Given the description of an element on the screen output the (x, y) to click on. 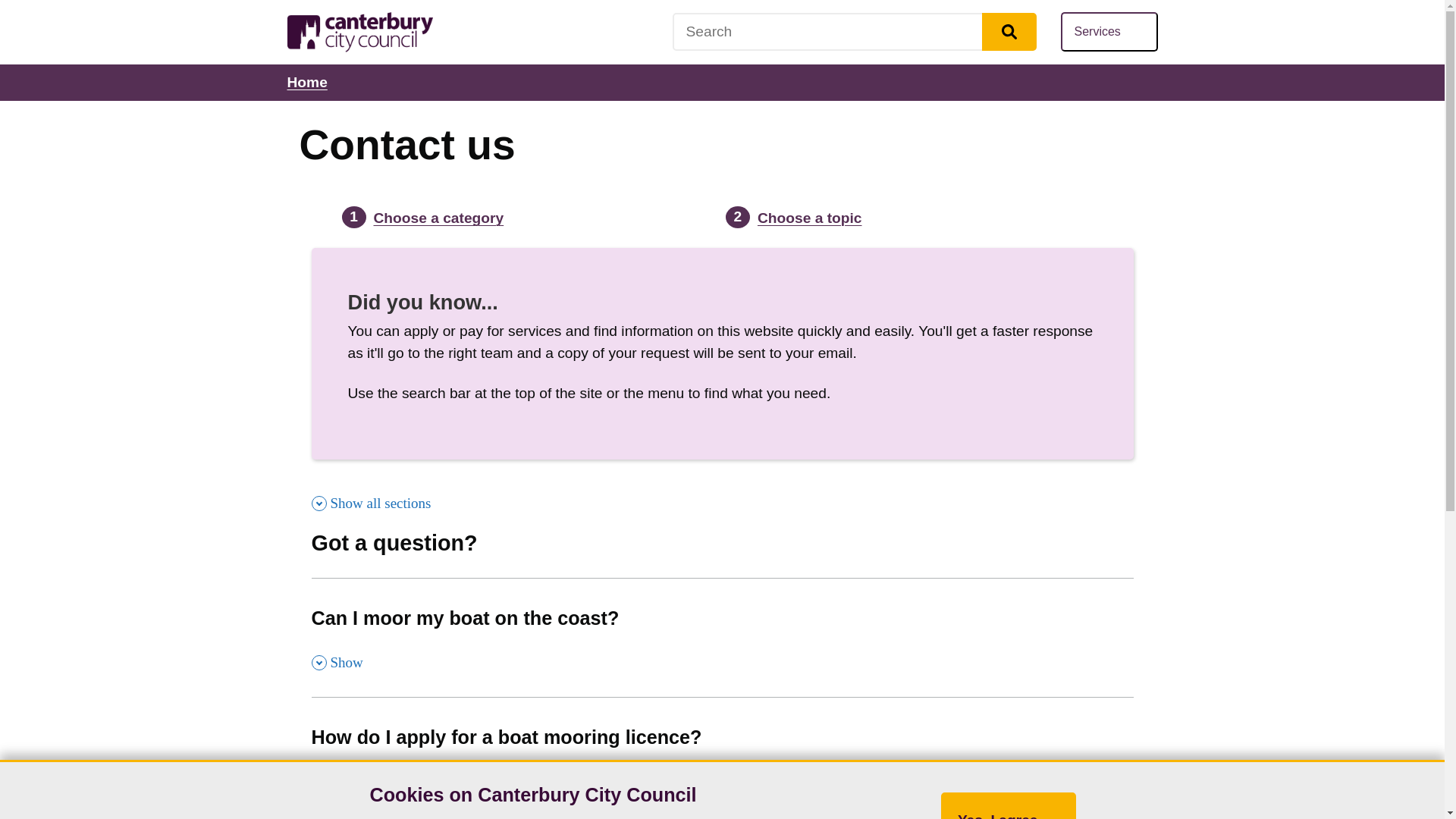
Search (1008, 31)
Choose a topic (809, 217)
Search (1108, 31)
Choose a category (853, 31)
Choose a category (721, 637)
Yes, I agree (437, 217)
